Given the description of an element on the screen output the (x, y) to click on. 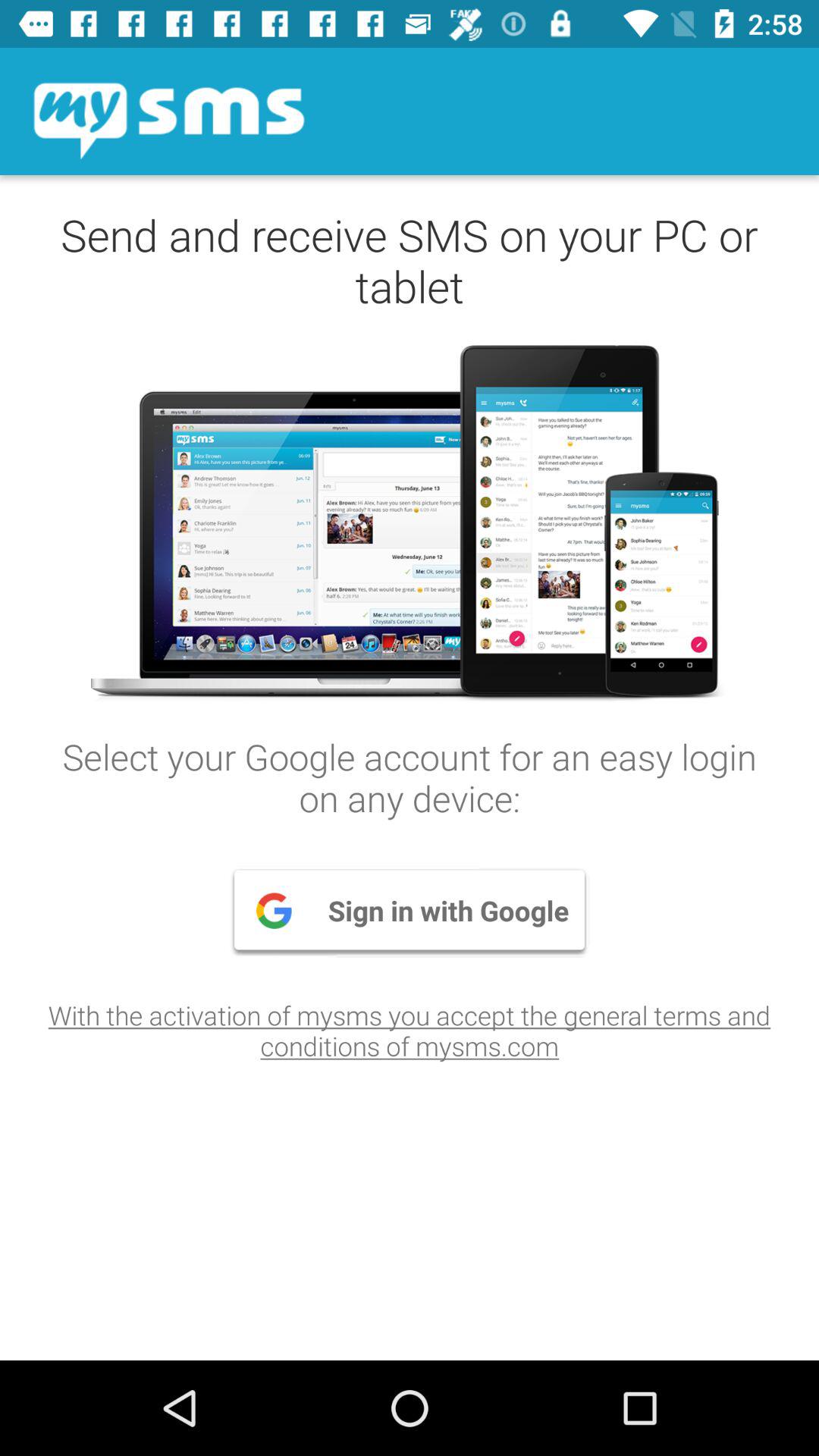
turn on item below select your google (409, 909)
